Given the description of an element on the screen output the (x, y) to click on. 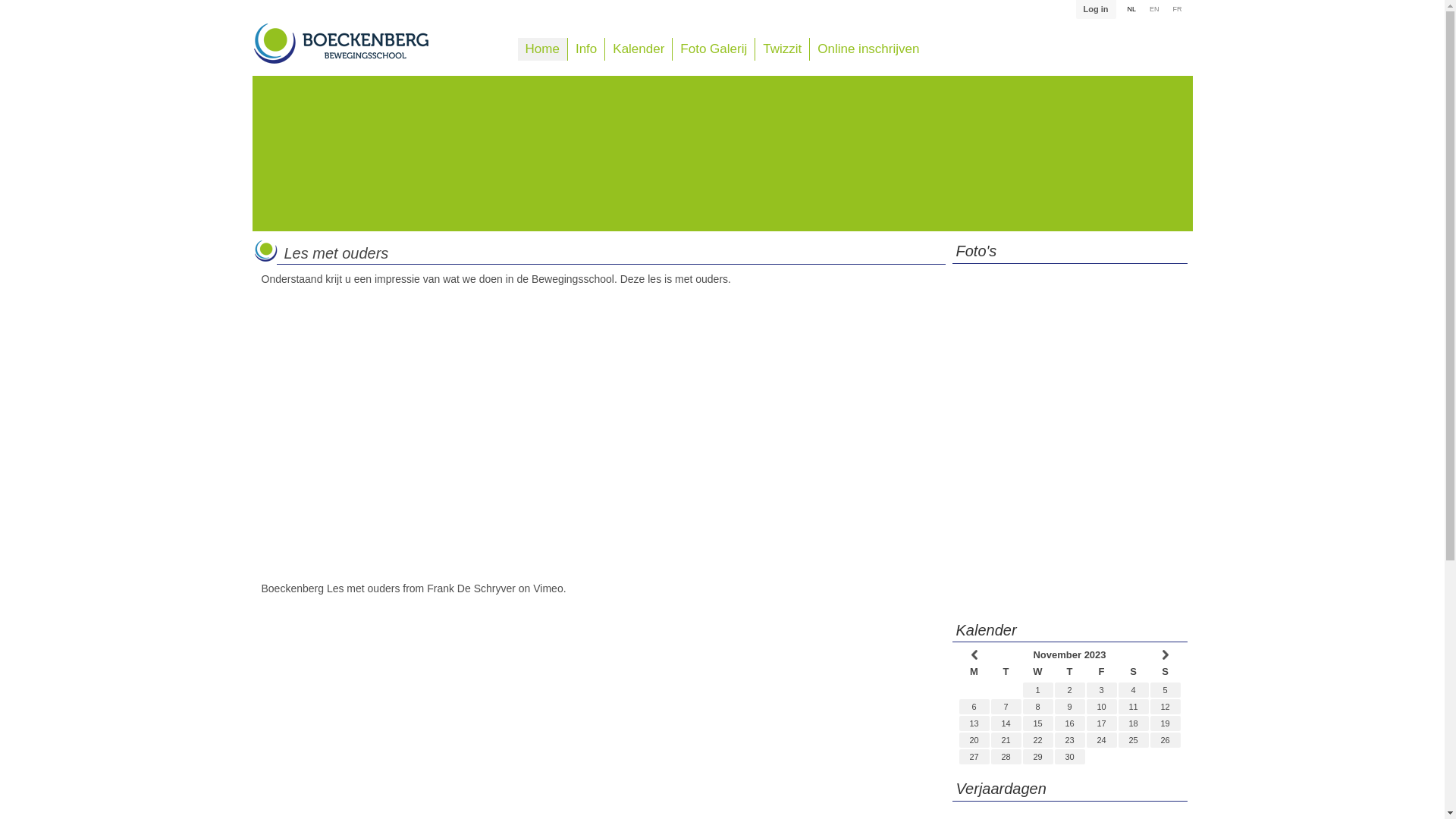
FR Element type: text (1177, 9)
NL Element type: text (1131, 9)
Boeckenberg Les met ouders Element type: text (329, 588)
Info Element type: text (585, 48)
Vimeo Element type: text (547, 588)
  Element type: text (973, 654)
  Element type: text (1164, 654)
Twizzit Element type: text (781, 48)
Kalender Element type: text (638, 48)
Frank De Schryver Element type: text (470, 588)
Log in Element type: text (1096, 9)
Les met ouders Element type: text (335, 252)
Foto Galerij Element type: text (713, 48)
Home Element type: text (542, 48)
EN Element type: text (1154, 9)
